Given the description of an element on the screen output the (x, y) to click on. 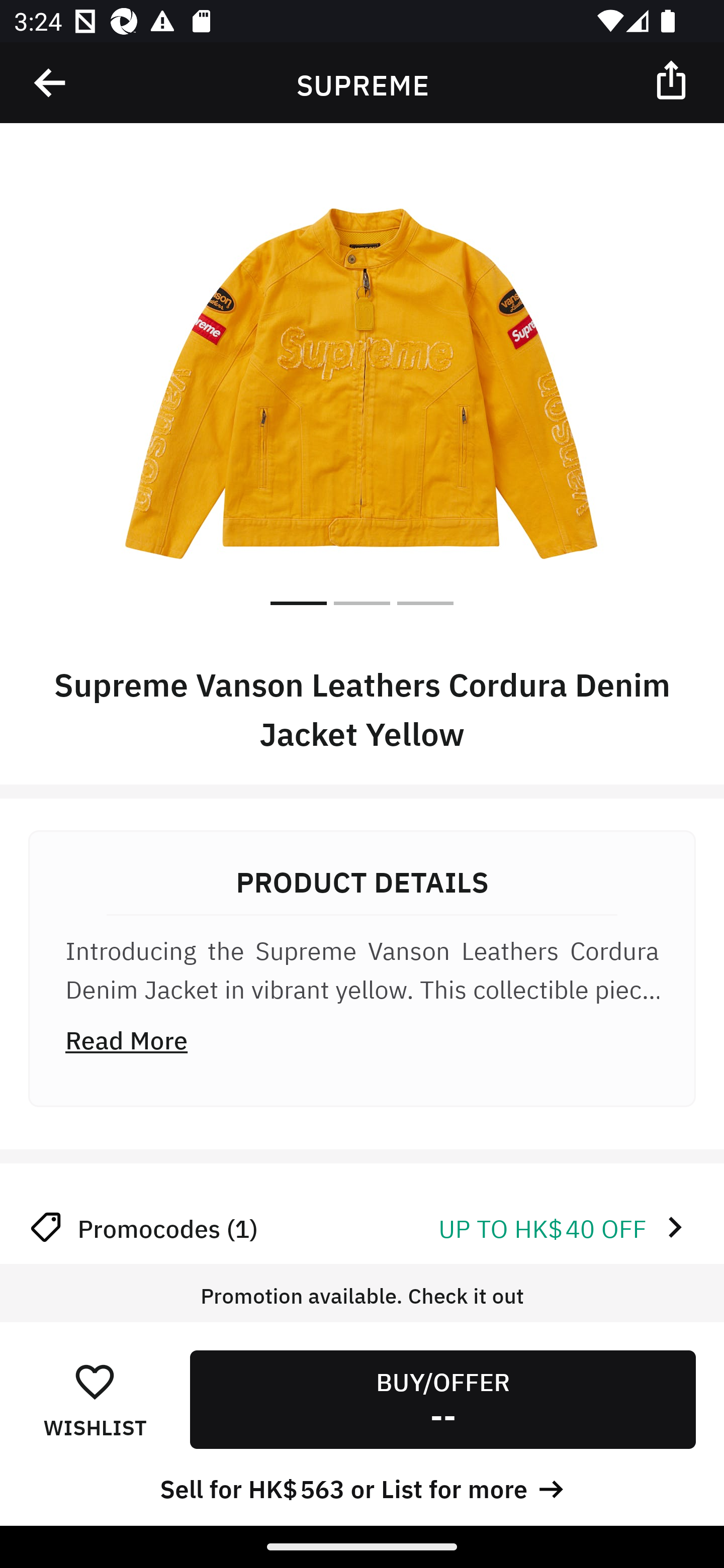
 (50, 83)
 (672, 79)
Promocodes (1) UP TO HK$ 40 OFF  (361, 1226)
BUY/OFFER -- (442, 1399)
󰋕 (94, 1380)
Sell for HK$ 563 or List for more (361, 1486)
